Given the description of an element on the screen output the (x, y) to click on. 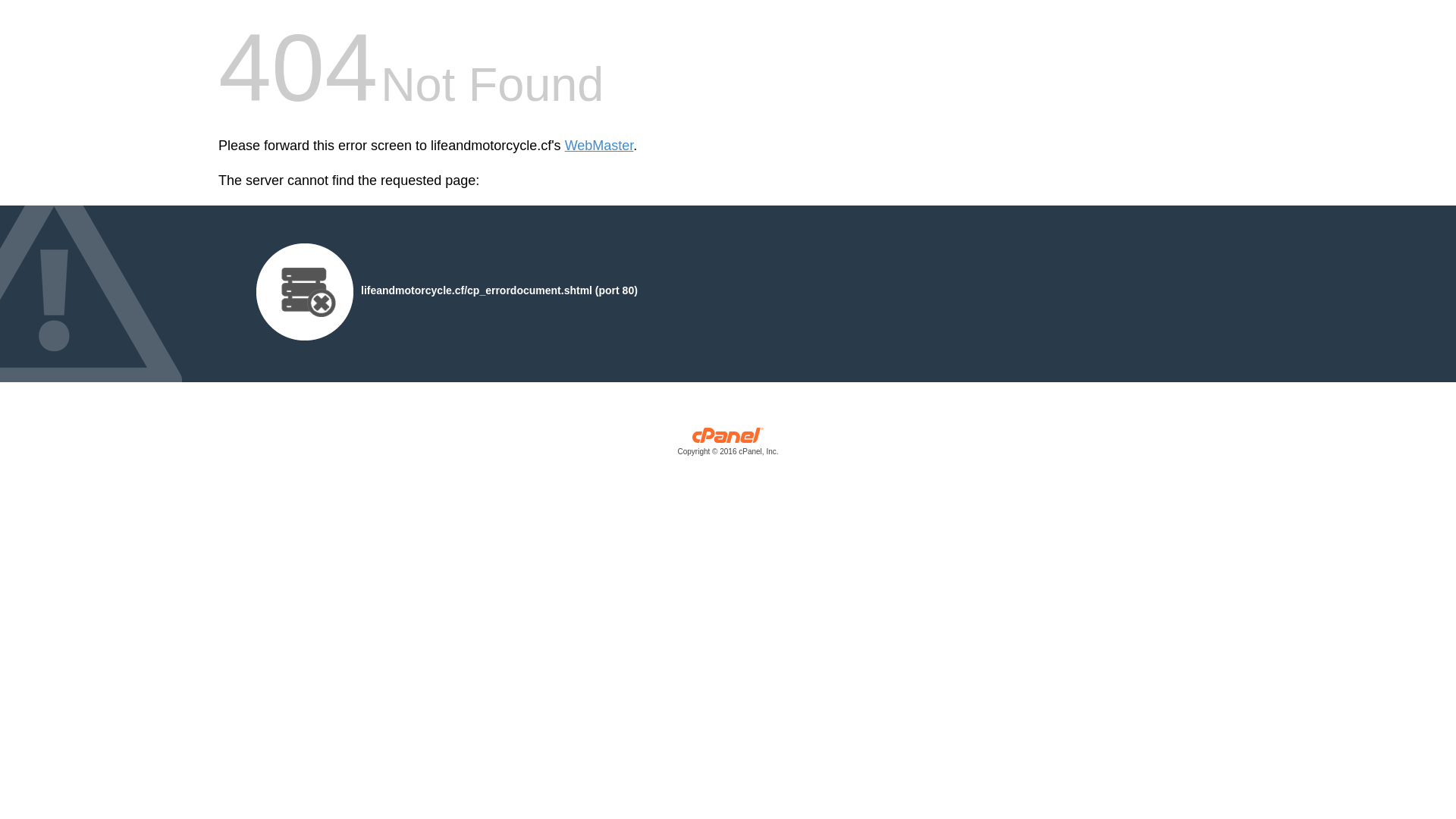
WebMaster Element type: text (598, 145)
